Given the description of an element on the screen output the (x, y) to click on. 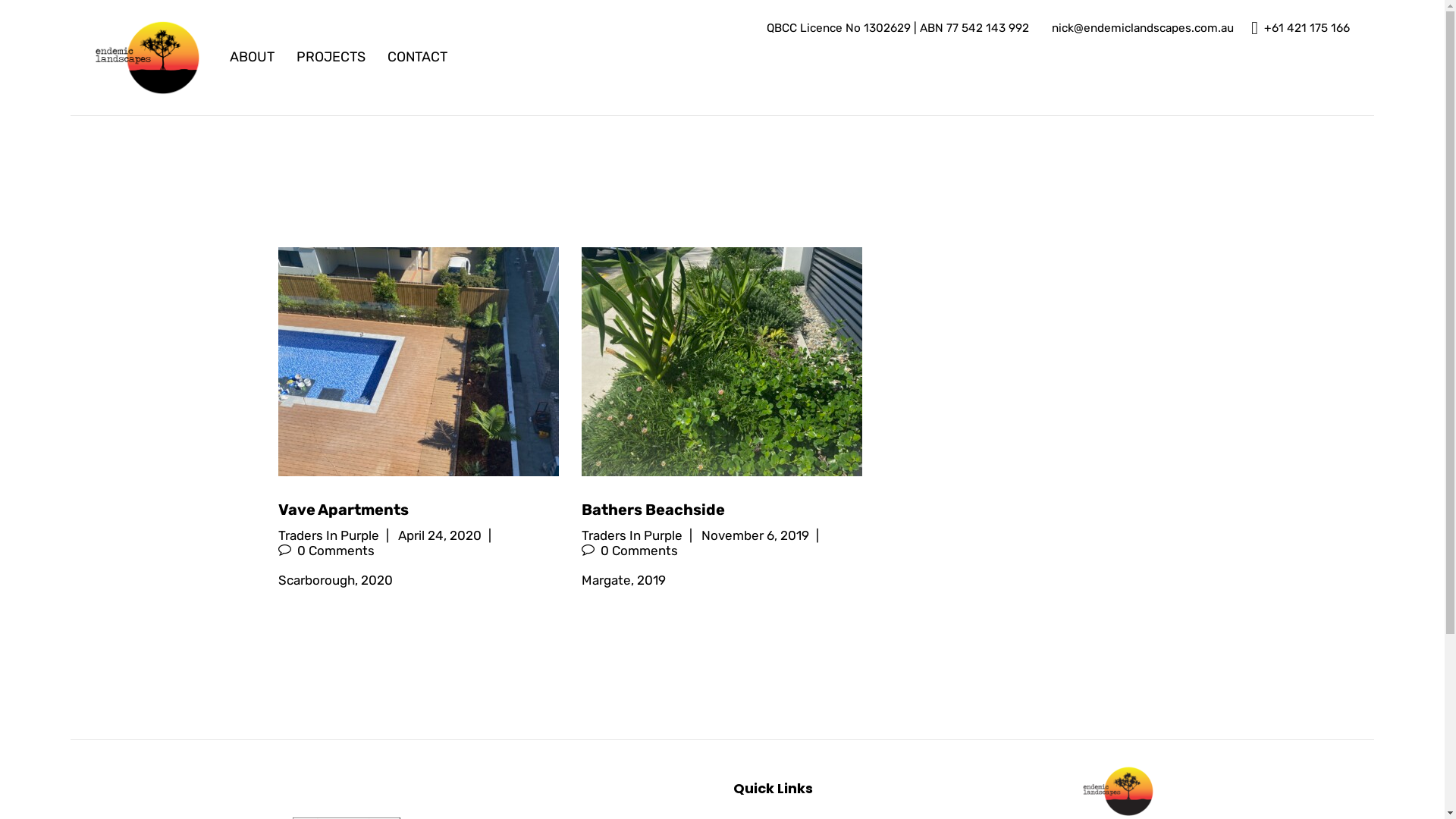
Traders In Purple Element type: text (631, 534)
April 24, 2020 Element type: text (439, 534)
CONTACT Element type: text (417, 57)
Traders In Purple Element type: text (328, 534)
el-logo Element type: hover (1116, 789)
nick@endemiclandscapes.com.au Element type: text (1140, 28)
Vave Apartments Element type: text (418, 509)
0Comments Element type: text (326, 550)
November 6, 2019 Element type: text (755, 534)
PROJECTS Element type: text (330, 57)
Bathers Beachside Element type: text (721, 509)
0Comments Element type: text (629, 550)
ABOUT Element type: text (252, 57)
